Given the description of an element on the screen output the (x, y) to click on. 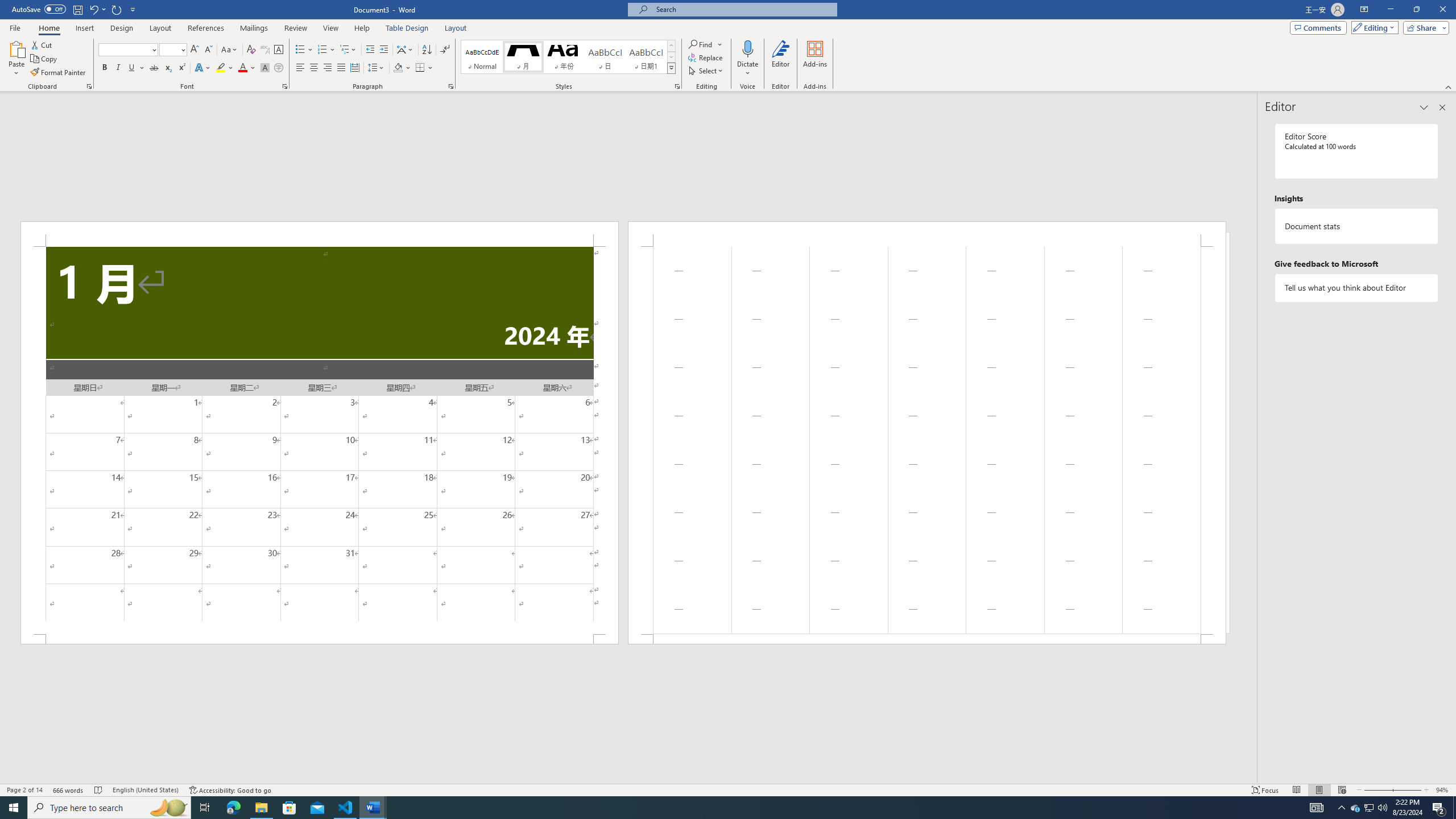
Page 1 content (319, 439)
Spelling and Grammar Check No Errors (98, 790)
Page Number Page 2 of 14 (24, 790)
